Given the description of an element on the screen output the (x, y) to click on. 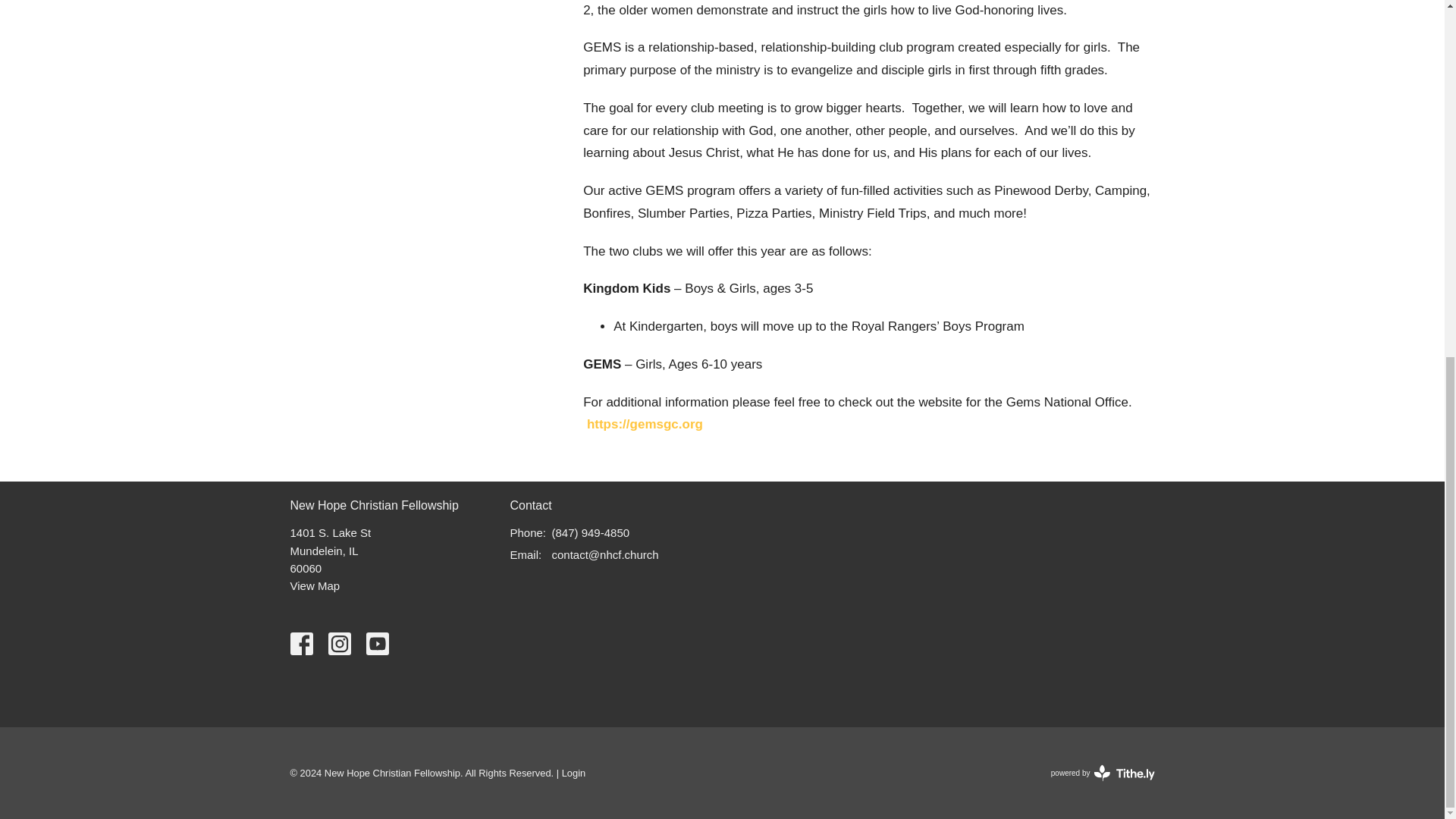
Login (574, 772)
translation missing: en.ui.email (523, 554)
View Map (1102, 772)
